Given the description of an element on the screen output the (x, y) to click on. 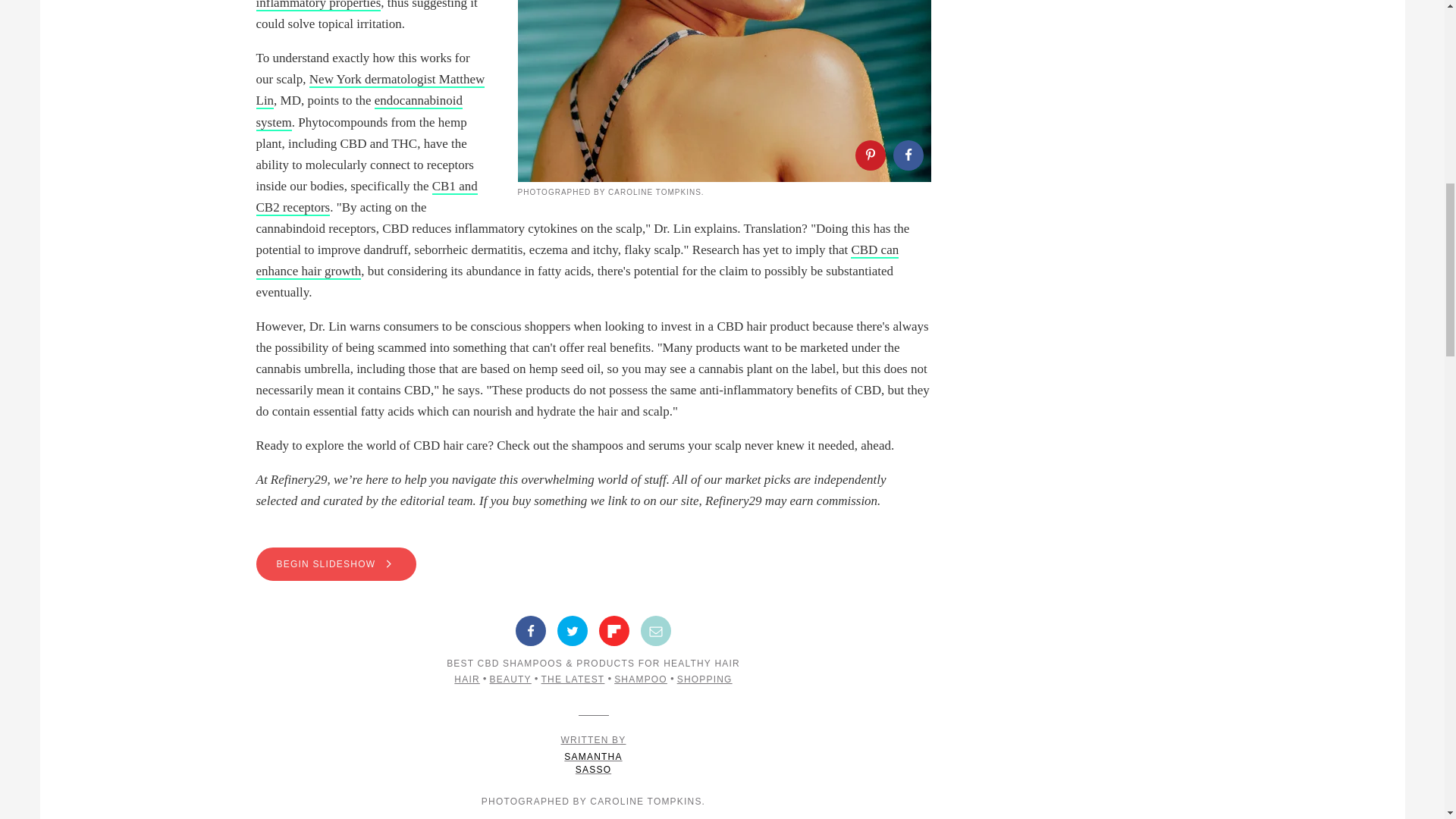
Share on Pinterest (870, 155)
Share by Email (655, 630)
Share on Facebook (530, 630)
CBD can enhance hair growth (577, 261)
anti-inflammatory properties (358, 5)
BEGIN SLIDESHOW (593, 563)
Share on Flipboard (613, 630)
BEGIN SLIDESHOW (336, 563)
Share on Facebook (908, 155)
Share on Twitter (572, 630)
New York dermatologist Matthew Lin (370, 90)
endocannabinoid system (359, 111)
CB1 and CB2 receptors (366, 197)
